Given the description of an element on the screen output the (x, y) to click on. 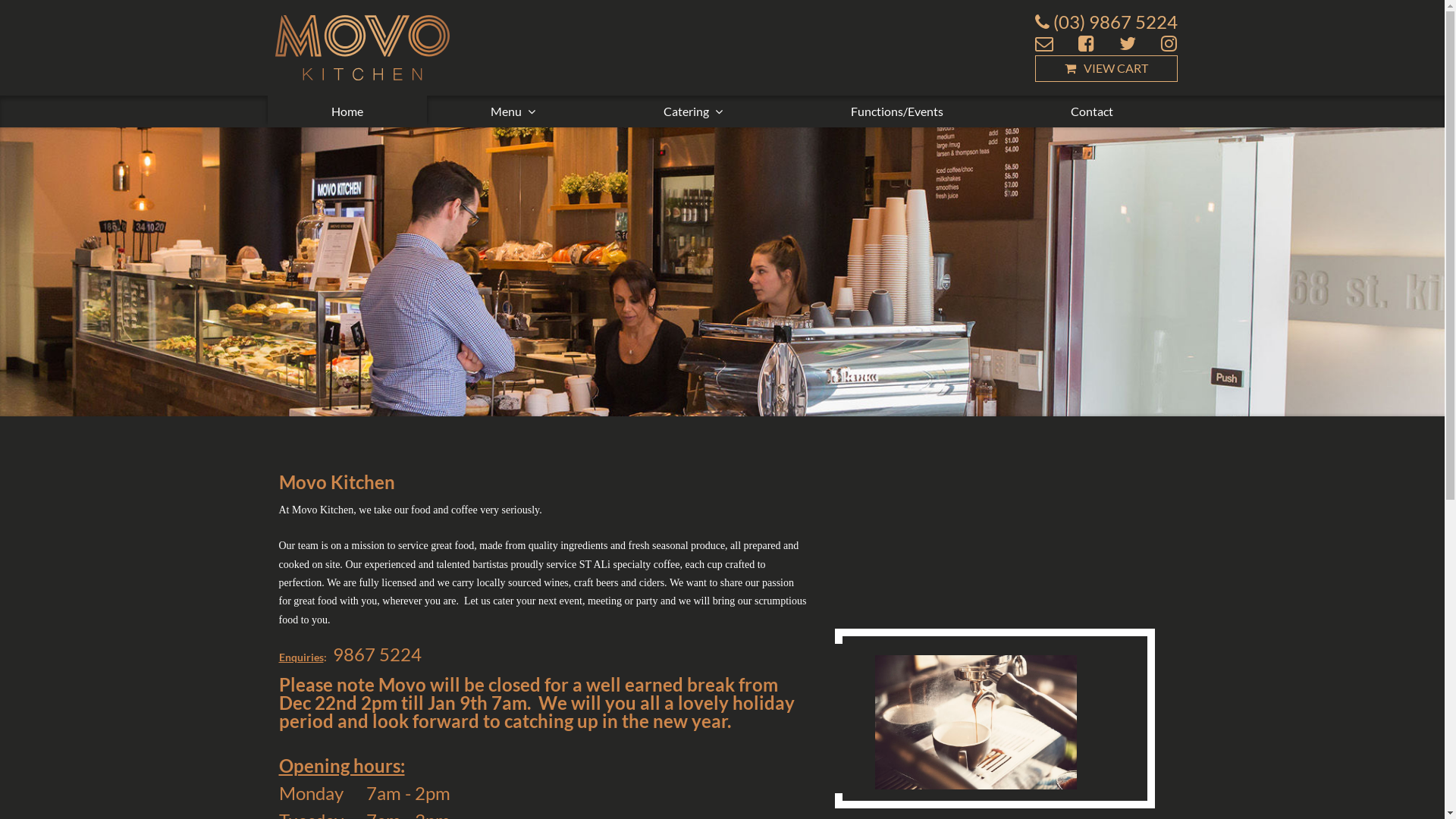
Contact Element type: text (1092, 111)
Catering Element type: text (693, 111)
Enquiries Element type: text (301, 656)
Functions/Events Element type: text (896, 111)
Menu Element type: text (512, 111)
Home Element type: text (346, 111)
(03) 9867 5224 Element type: text (1105, 21)
